Given the description of an element on the screen output the (x, y) to click on. 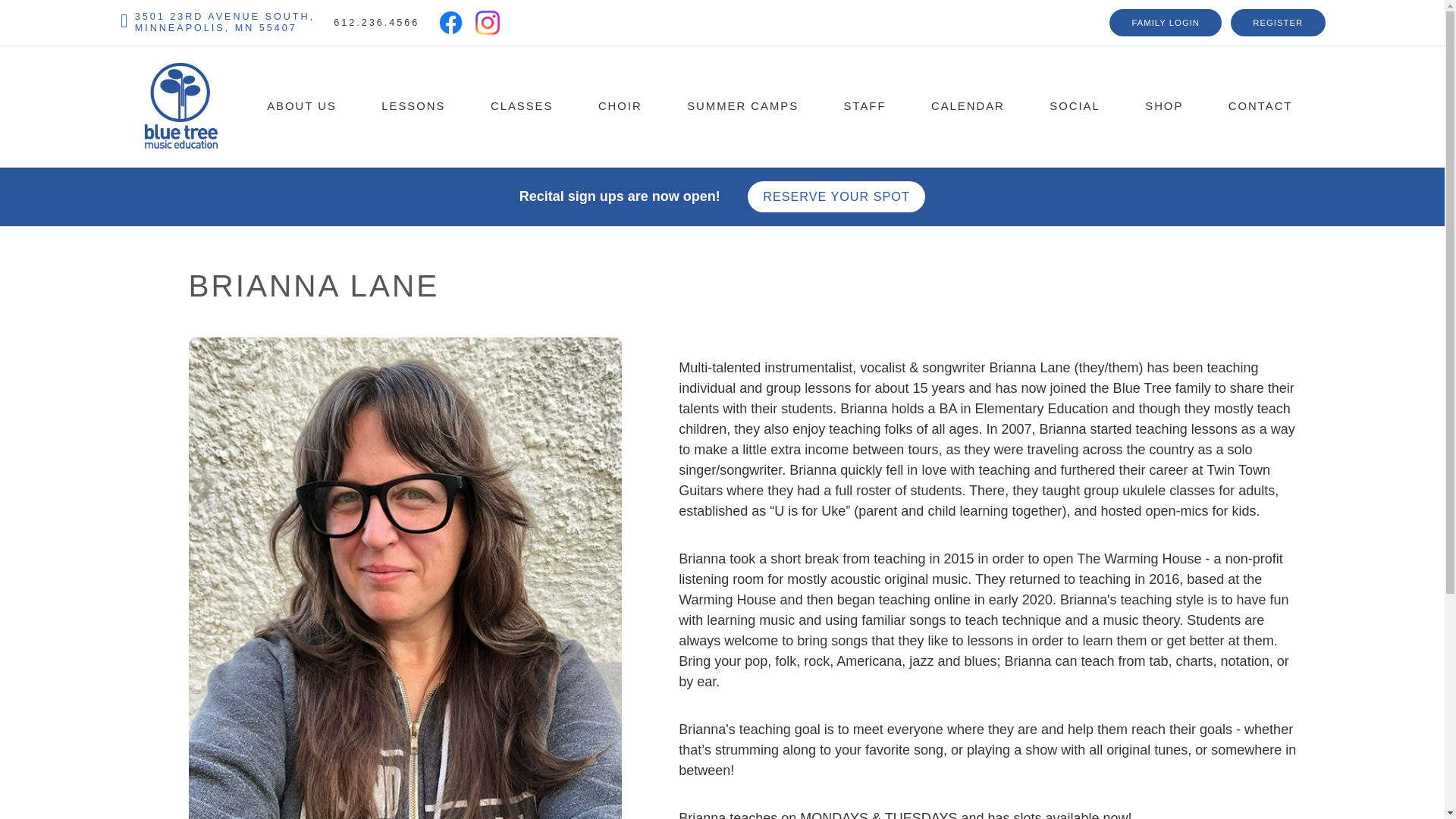
ABOUT US (301, 106)
RESERVE YOUR SPOT (219, 23)
REGISTER (837, 195)
FAMILY LOGIN (1277, 22)
CHOIR (1165, 22)
CLASSES (620, 106)
SOCIAL (521, 106)
SHOP (1074, 106)
Follow us on Facebook (1163, 106)
